Given the description of an element on the screen output the (x, y) to click on. 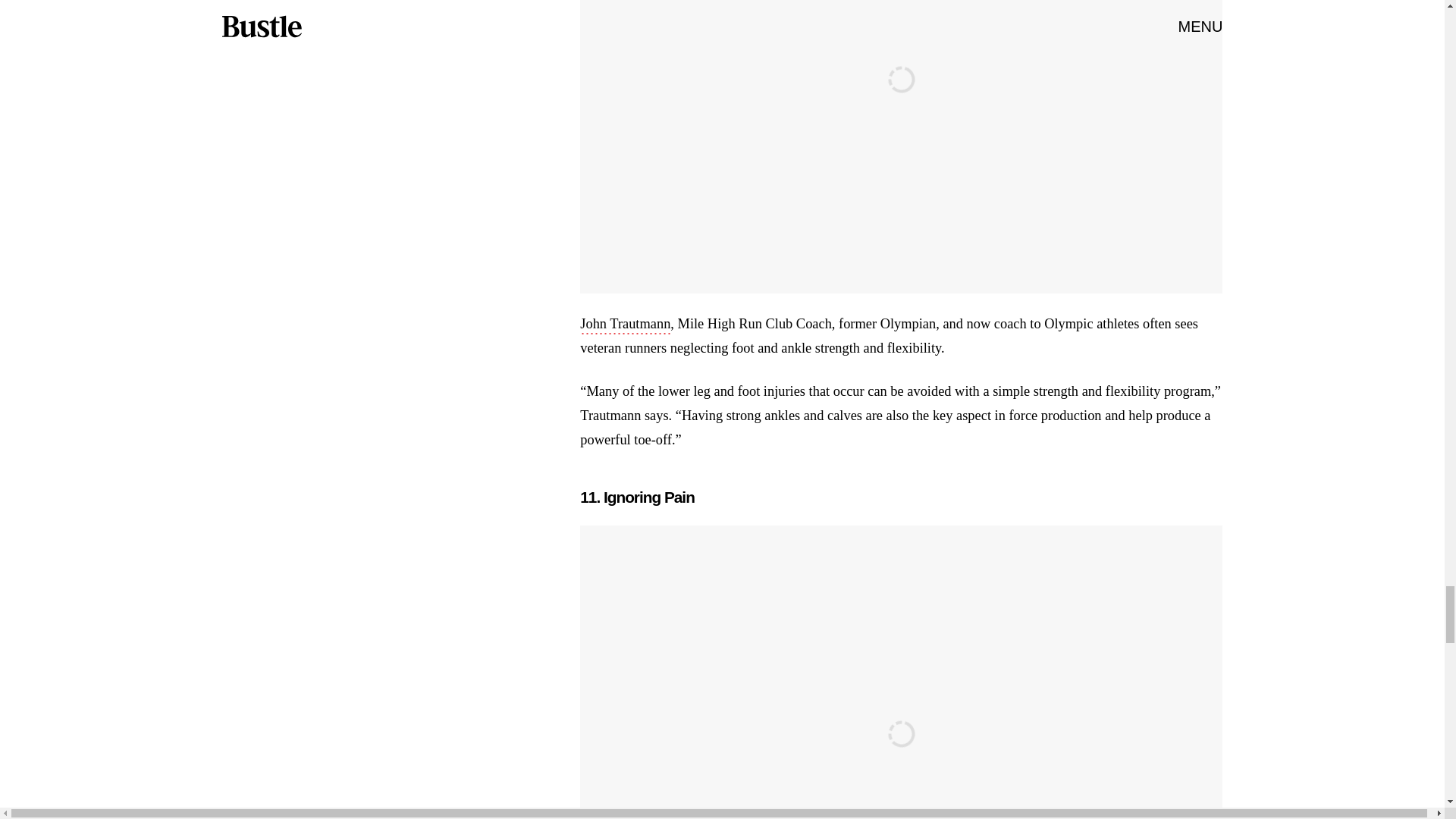
John Trautmann (624, 325)
